Given the description of an element on the screen output the (x, y) to click on. 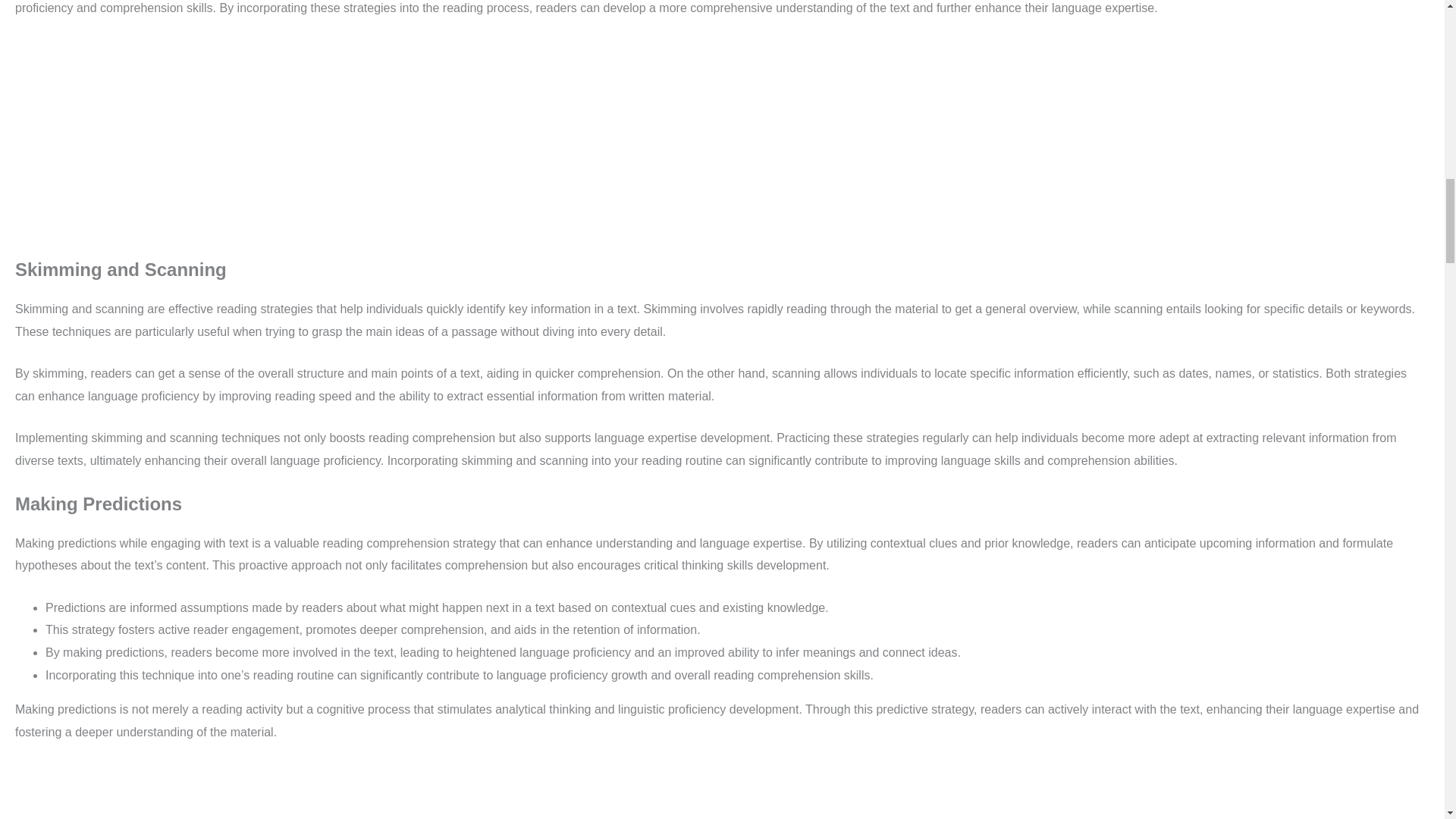
Advertisement (721, 790)
